Given the description of an element on the screen output the (x, y) to click on. 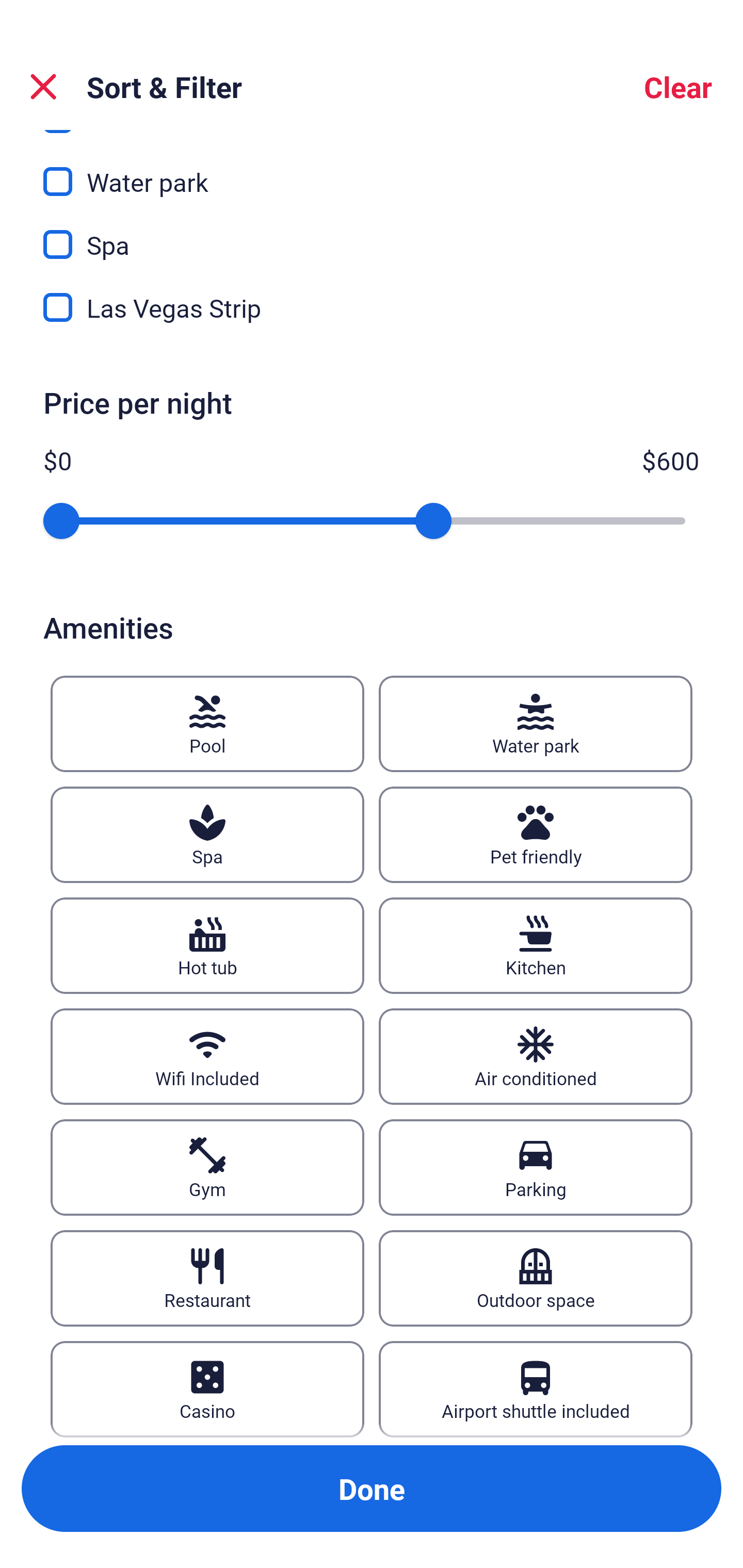
Close Sort and Filter (43, 86)
Clear (677, 86)
Water park, Water park (371, 169)
Spa, Spa (371, 233)
Las Vegas Strip, Las Vegas Strip (371, 307)
Pool (207, 723)
Water park (535, 723)
Spa (207, 834)
Pet friendly (535, 834)
Hot tub (207, 945)
Kitchen (535, 945)
Wifi Included (207, 1056)
Air conditioned (535, 1056)
Gym (207, 1167)
Parking (535, 1167)
Restaurant (207, 1278)
Outdoor space (535, 1278)
Casino (207, 1388)
Airport shuttle included (535, 1388)
Apply and close Sort and Filter Done (371, 1488)
